Given the description of an element on the screen output the (x, y) to click on. 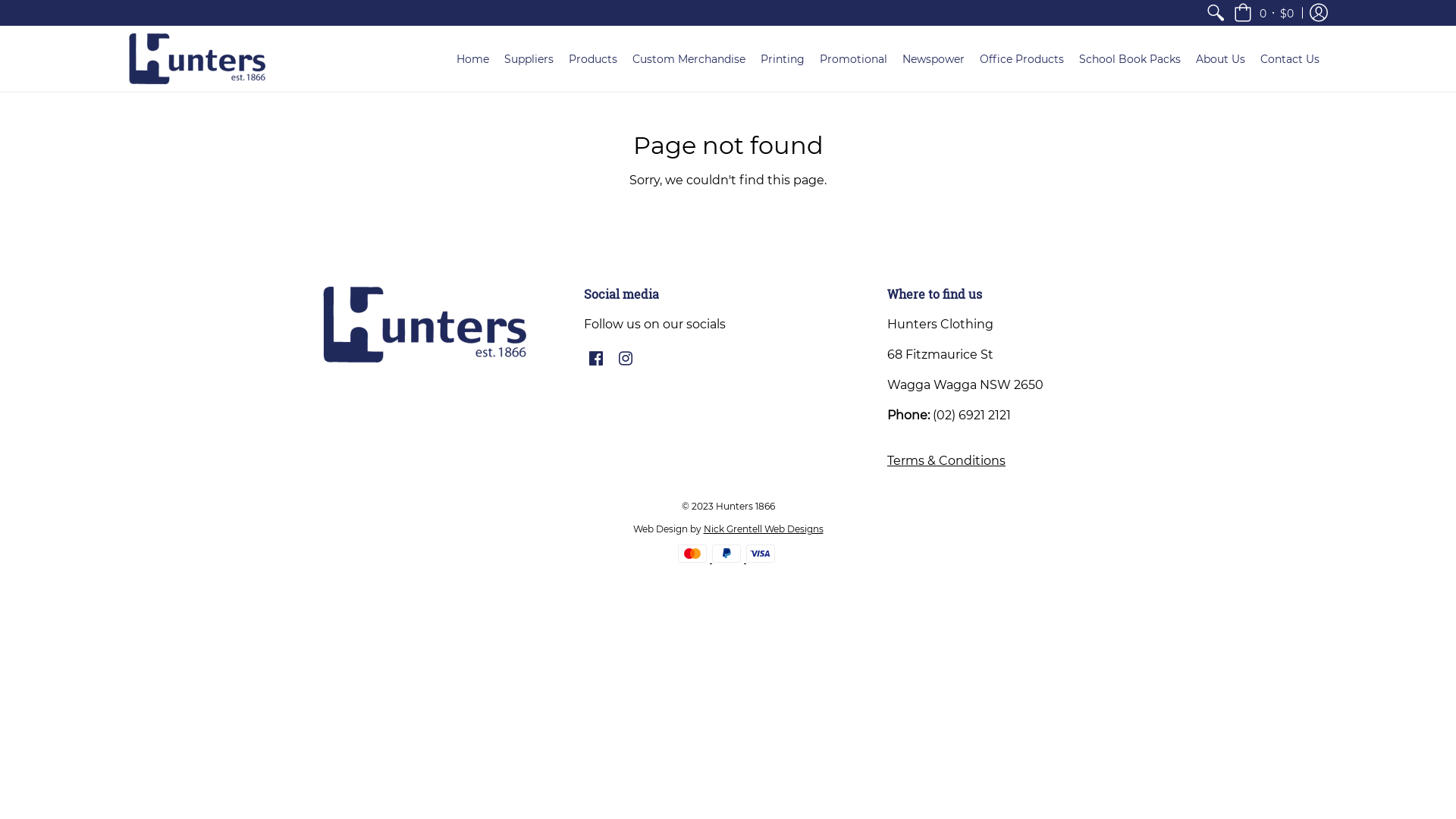
Contact Us Element type: text (1289, 58)
Office Products Element type: text (1021, 58)
Custom Merchandise Element type: text (688, 58)
About Us Element type: text (1220, 58)
Hunters 1866 Element type: hover (196, 58)
Search Element type: hover (1215, 12)
Newspower Element type: text (933, 58)
School Book Packs Element type: text (1129, 58)
Log in Element type: hover (1318, 12)
Terms & Conditions Element type: text (946, 460)
Promotional Element type: text (853, 58)
Printing Element type: text (782, 58)
Nick Grentell Web Designs Element type: text (763, 528)
Products Element type: text (592, 58)
Home Element type: text (472, 58)
Suppliers Element type: text (528, 58)
